Given the description of an element on the screen output the (x, y) to click on. 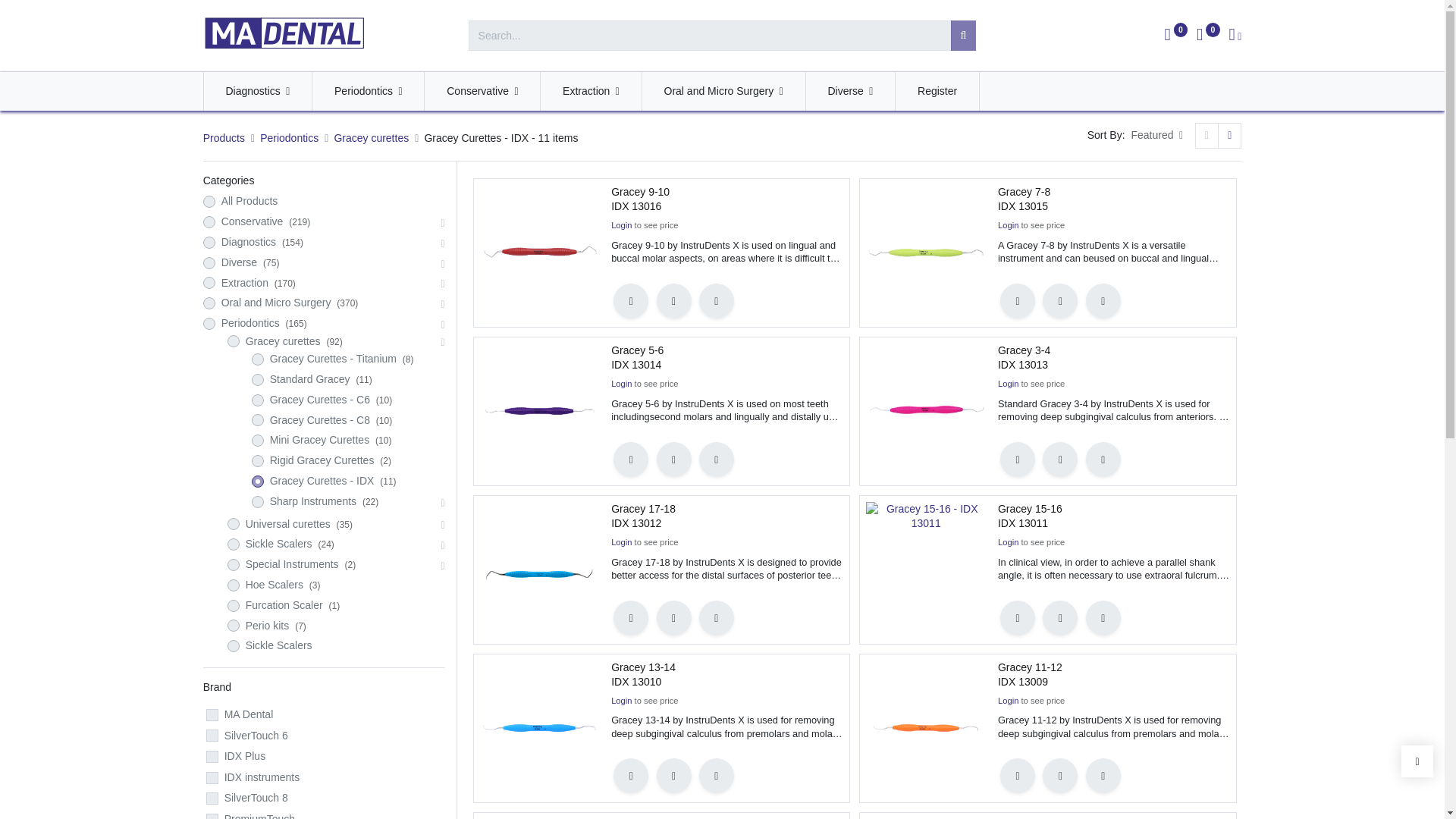
on (1206, 135)
0 (1176, 36)
Register (936, 91)
on (1229, 135)
Grid (1206, 135)
List (1229, 135)
Periodontics (289, 137)
Gracey curettes (371, 137)
Extraction (590, 91)
MA Dental (284, 33)
Periodontics (368, 91)
Oral and Micro Surgery (723, 91)
Diagnostics (258, 91)
Conservative (482, 91)
Products (223, 137)
